Given the description of an element on the screen output the (x, y) to click on. 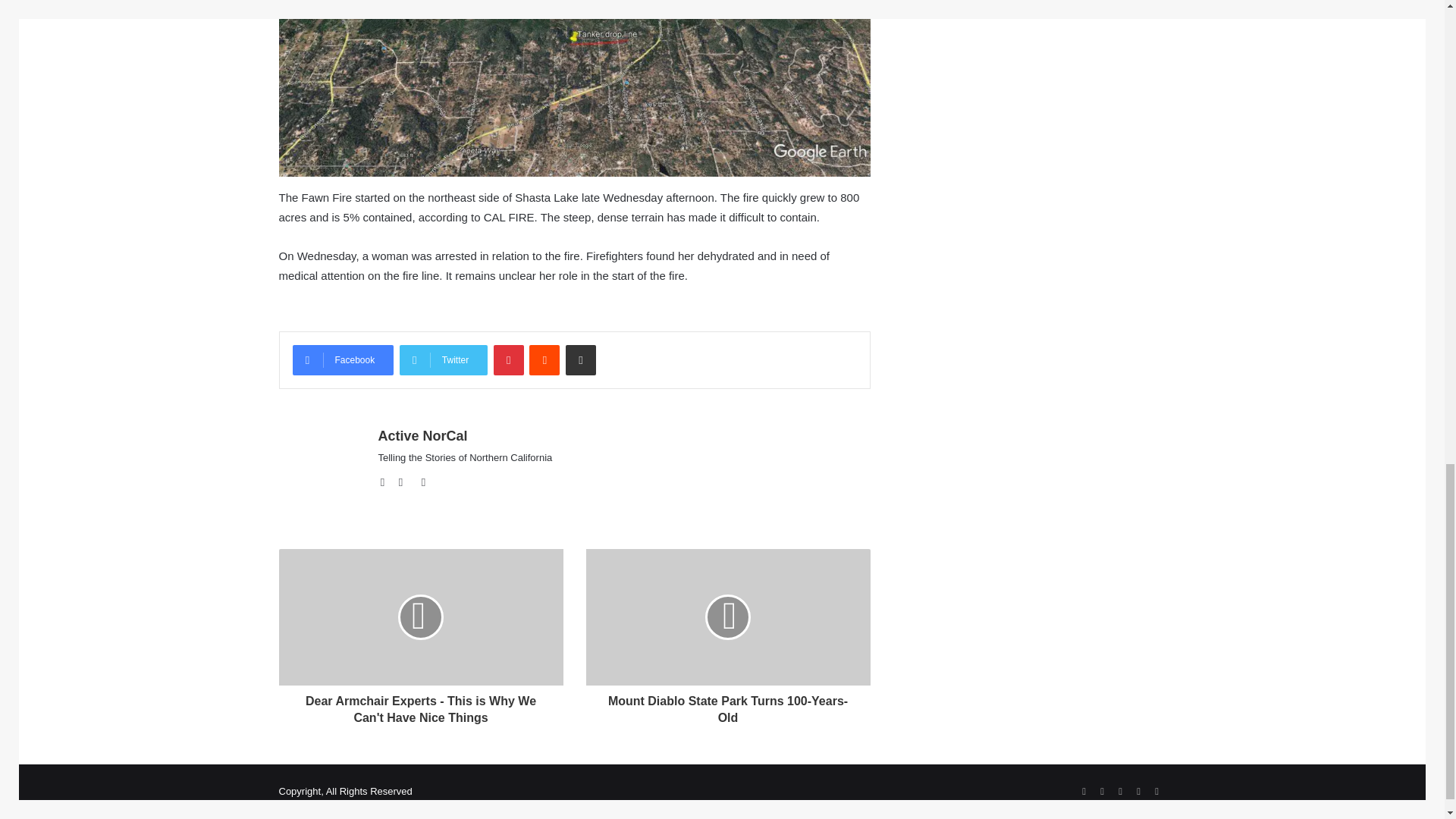
Twitter (442, 359)
Facebook (343, 359)
Share via Email (580, 359)
Pinterest (508, 359)
Reddit (544, 359)
